Given the description of an element on the screen output the (x, y) to click on. 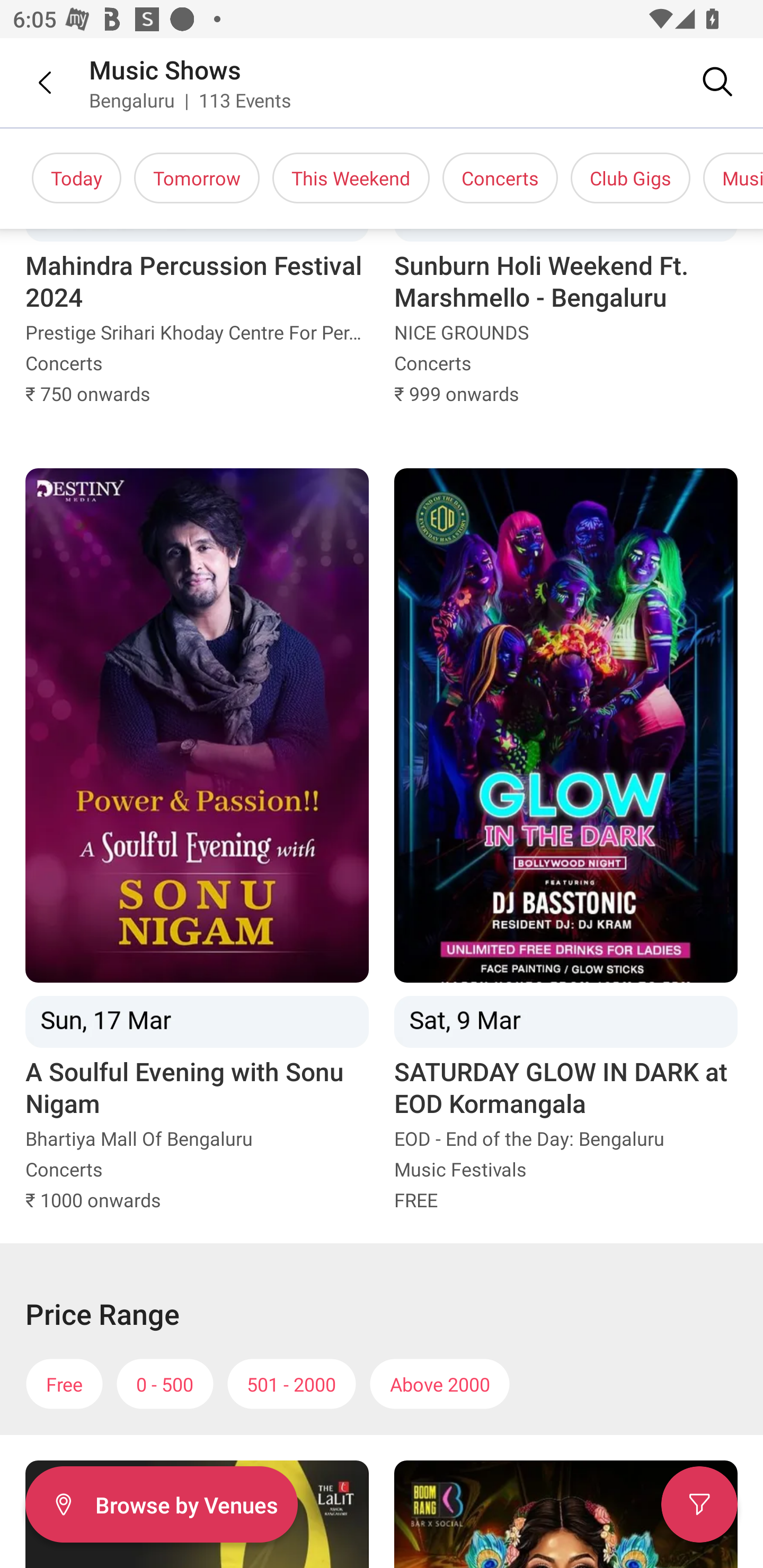
Back (31, 82)
Music Shows (165, 68)
Bengaluru  |  113 Events (190, 99)
Today (76, 177)
Tomorrow (196, 177)
This Weekend (350, 177)
Concerts (499, 177)
Club Gigs (630, 177)
Free (64, 1383)
0 - 500 (164, 1383)
501 - 2000 (291, 1383)
Above 2000 (439, 1383)
Filter Browse by Venues (161, 1504)
Filter (699, 1504)
